Given the description of an element on the screen output the (x, y) to click on. 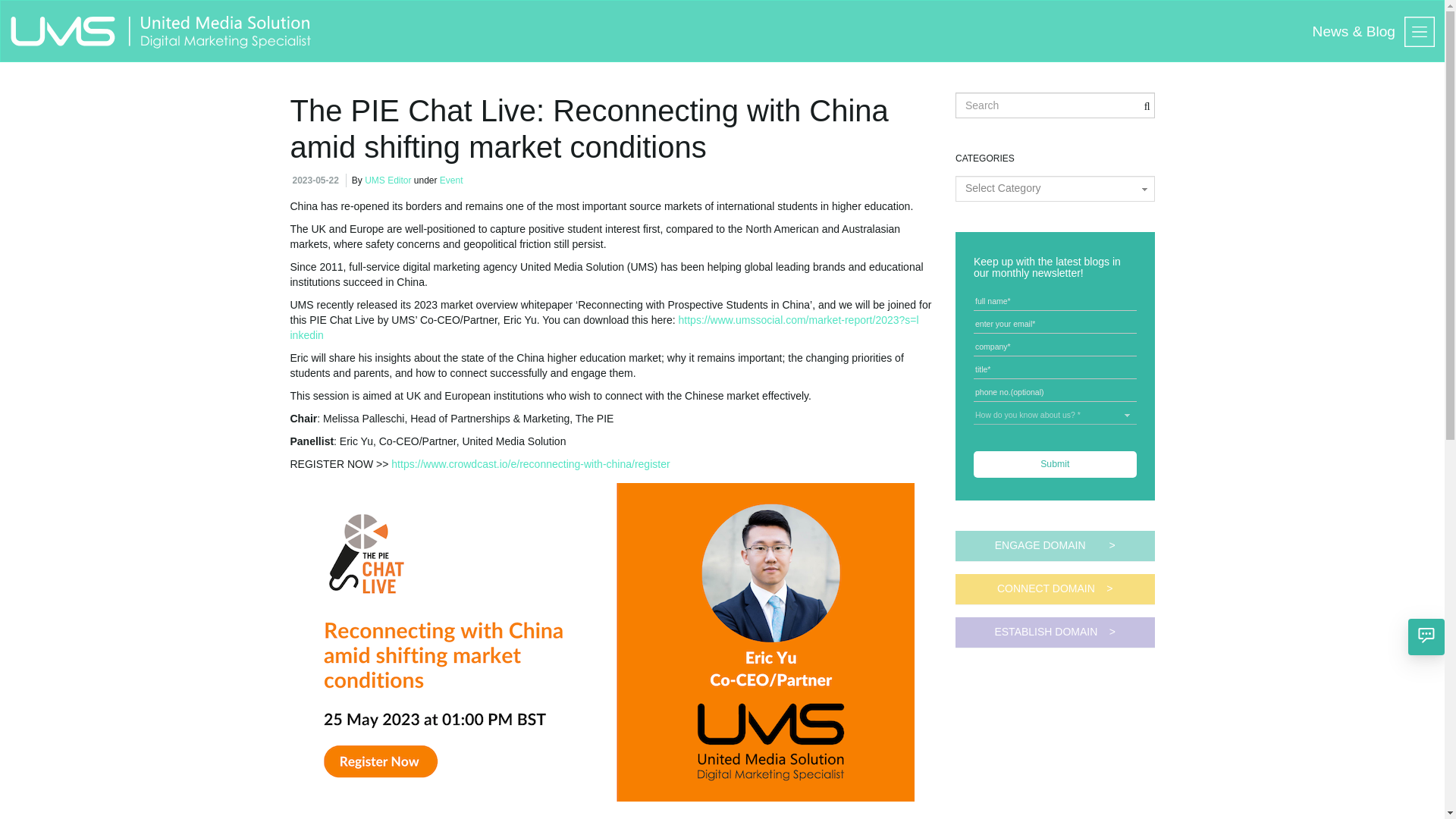
UMS Editor (387, 180)
Submit (1055, 464)
2023-05-22 (315, 180)
Event (451, 180)
